Given the description of an element on the screen output the (x, y) to click on. 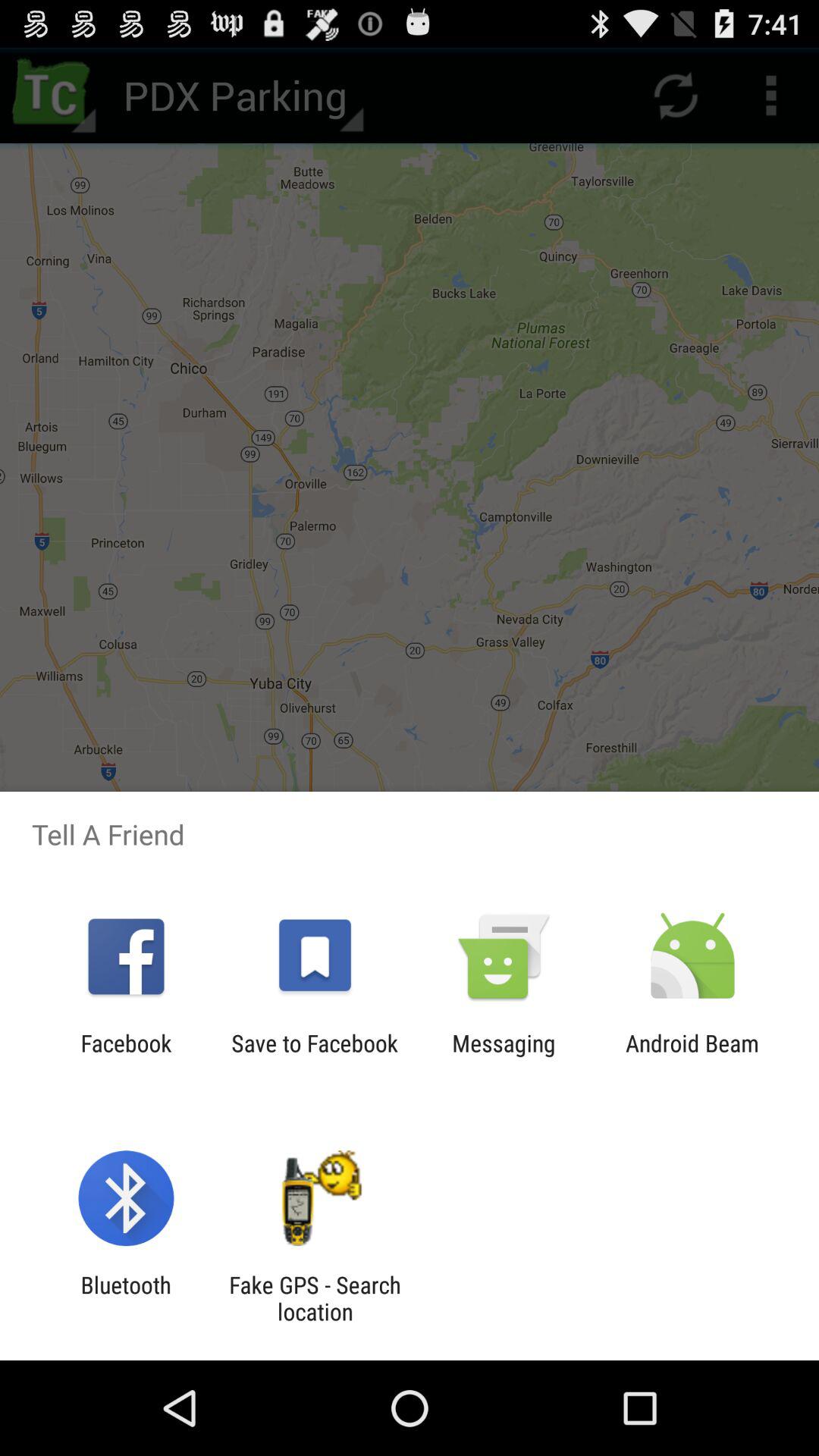
click the icon next to fake gps search (125, 1298)
